Given the description of an element on the screen output the (x, y) to click on. 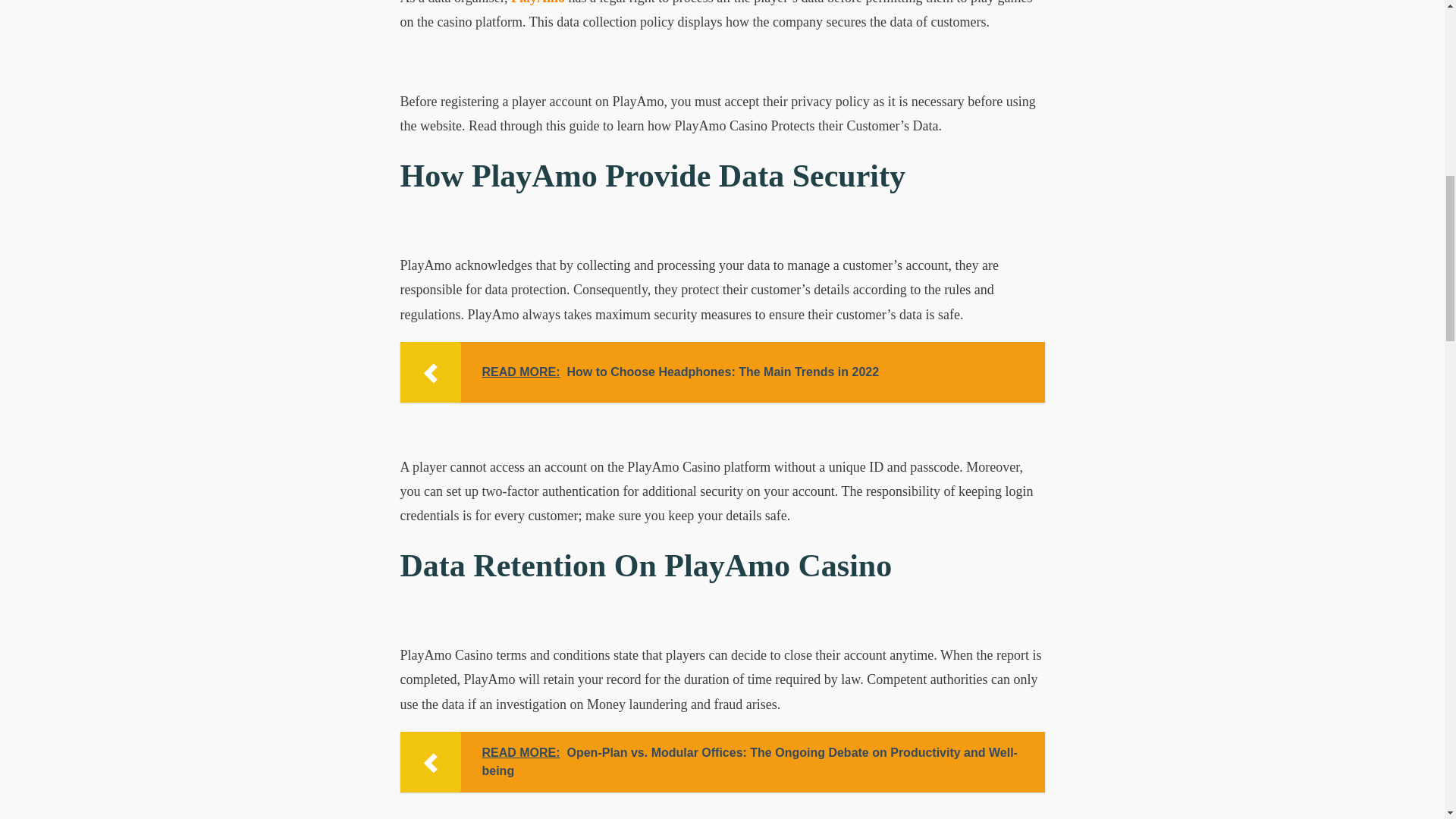
PlayAmo (537, 2)
